Given the description of an element on the screen output the (x, y) to click on. 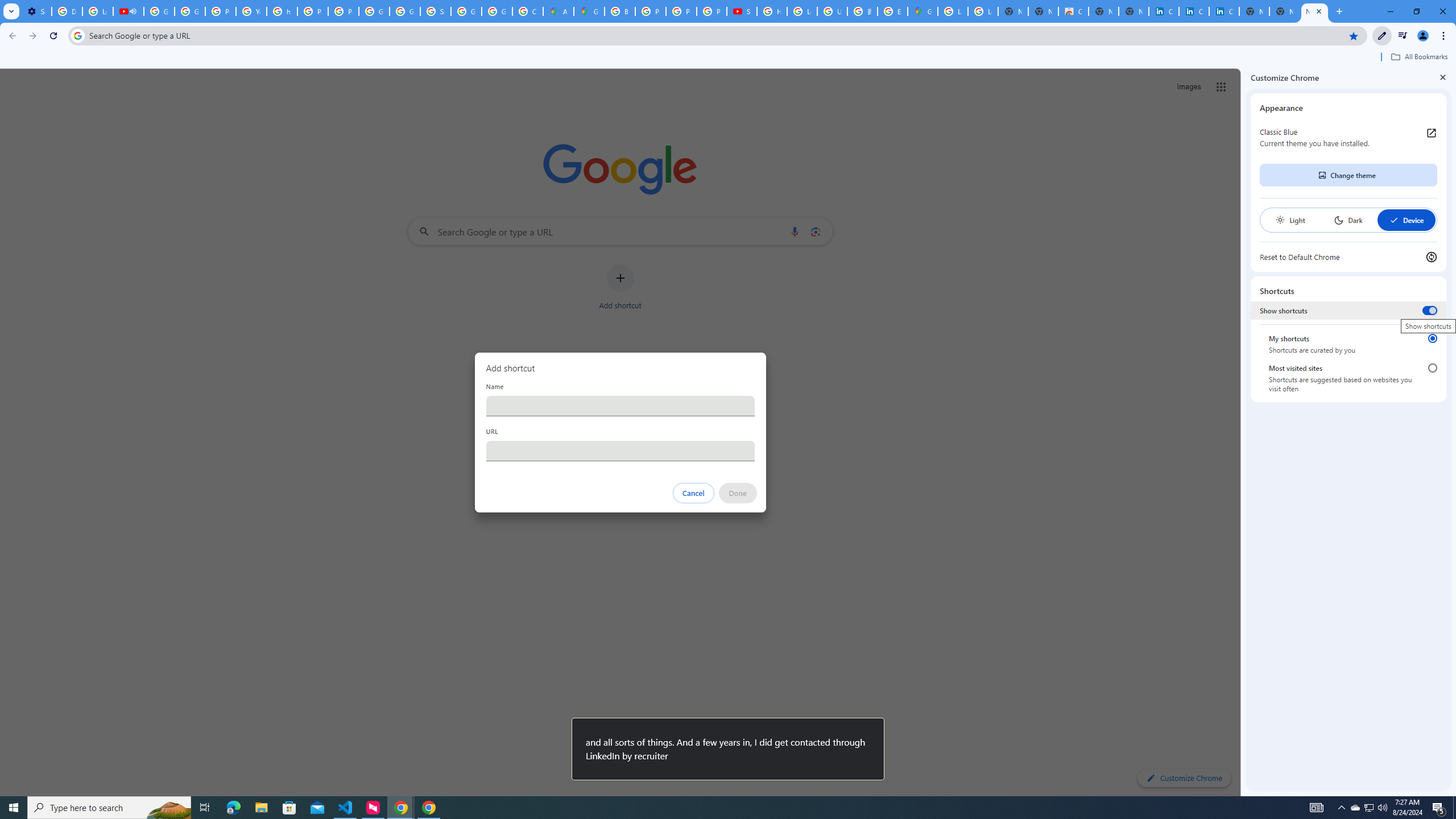
Show shortcuts (1429, 310)
Sign in - Google Accounts (434, 11)
Create your Google Account (527, 11)
Name (620, 405)
Privacy Help Center - Policies Help (220, 11)
Copyright Policy (1224, 11)
Cookie Policy | LinkedIn (1193, 11)
Dark (1348, 219)
Privacy Help Center - Policies Help (681, 11)
Done (737, 493)
Privacy Help Center - Policies Help (650, 11)
Subscriptions - YouTube (741, 11)
